Given the description of an element on the screen output the (x, y) to click on. 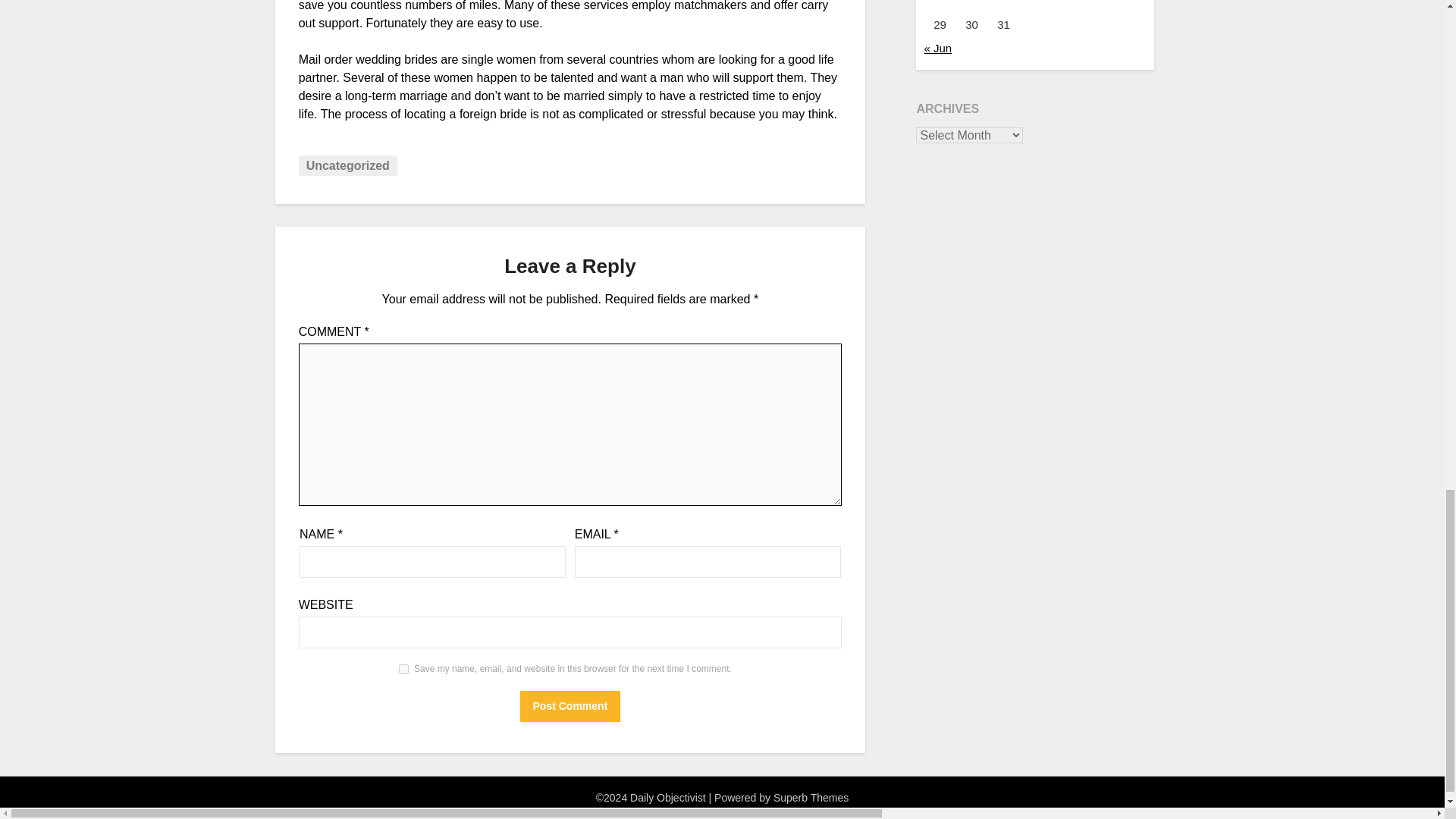
yes (403, 669)
Uncategorized (347, 165)
Superb Themes (810, 797)
Post Comment (570, 706)
Post Comment (570, 706)
